Given the description of an element on the screen output the (x, y) to click on. 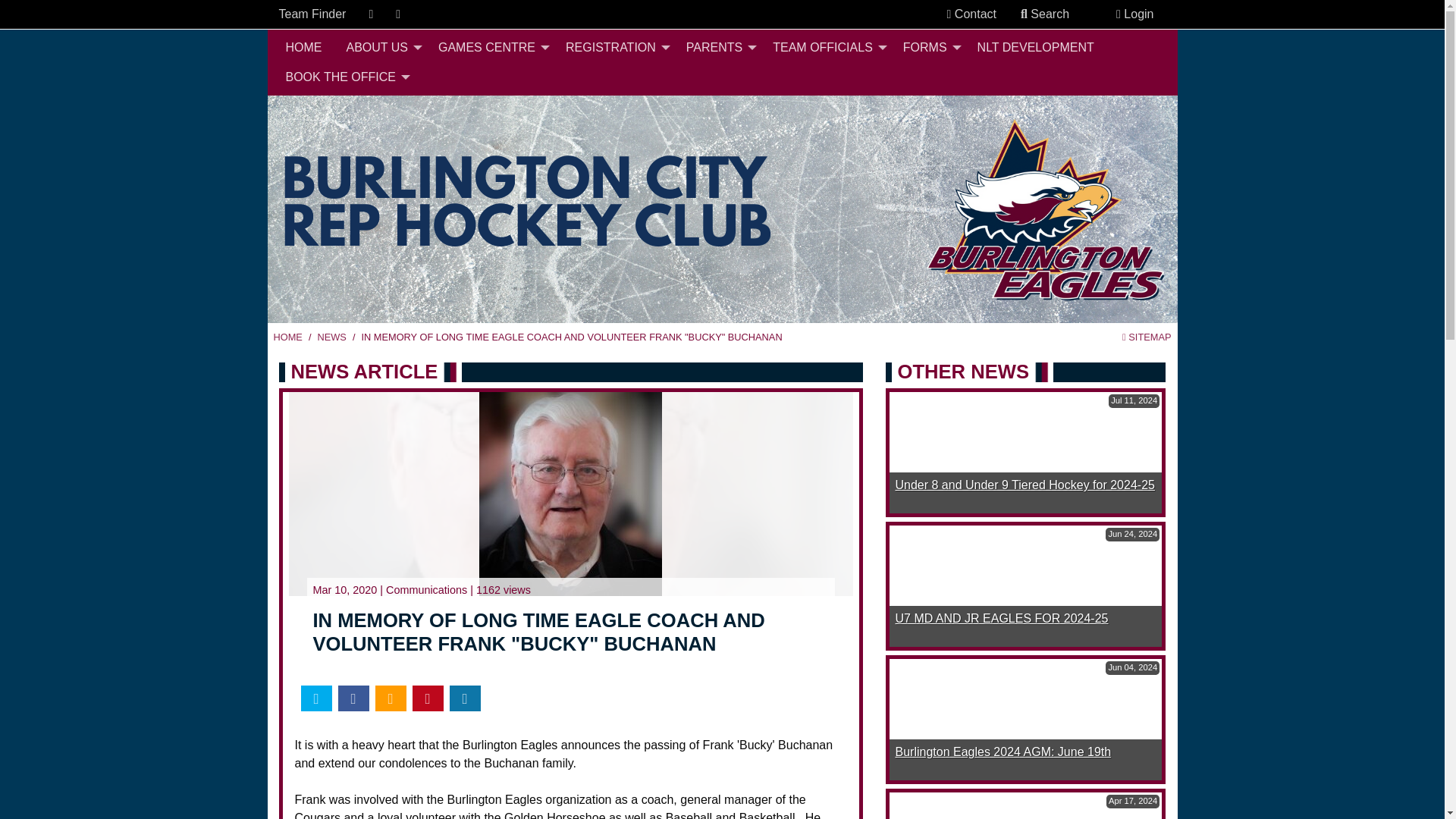
 Contact (971, 14)
Go to the sitemap page for this website (1146, 336)
Main Home Page (287, 336)
GAMES CENTRE (489, 47)
REGISTRATION (613, 47)
PARENTS (717, 47)
 Login (1134, 14)
List of News (331, 336)
Team Finder (312, 13)
read more of this item (1024, 484)
ABOUT US (379, 47)
HOME (303, 47)
 Search (1045, 14)
